Given the description of an element on the screen output the (x, y) to click on. 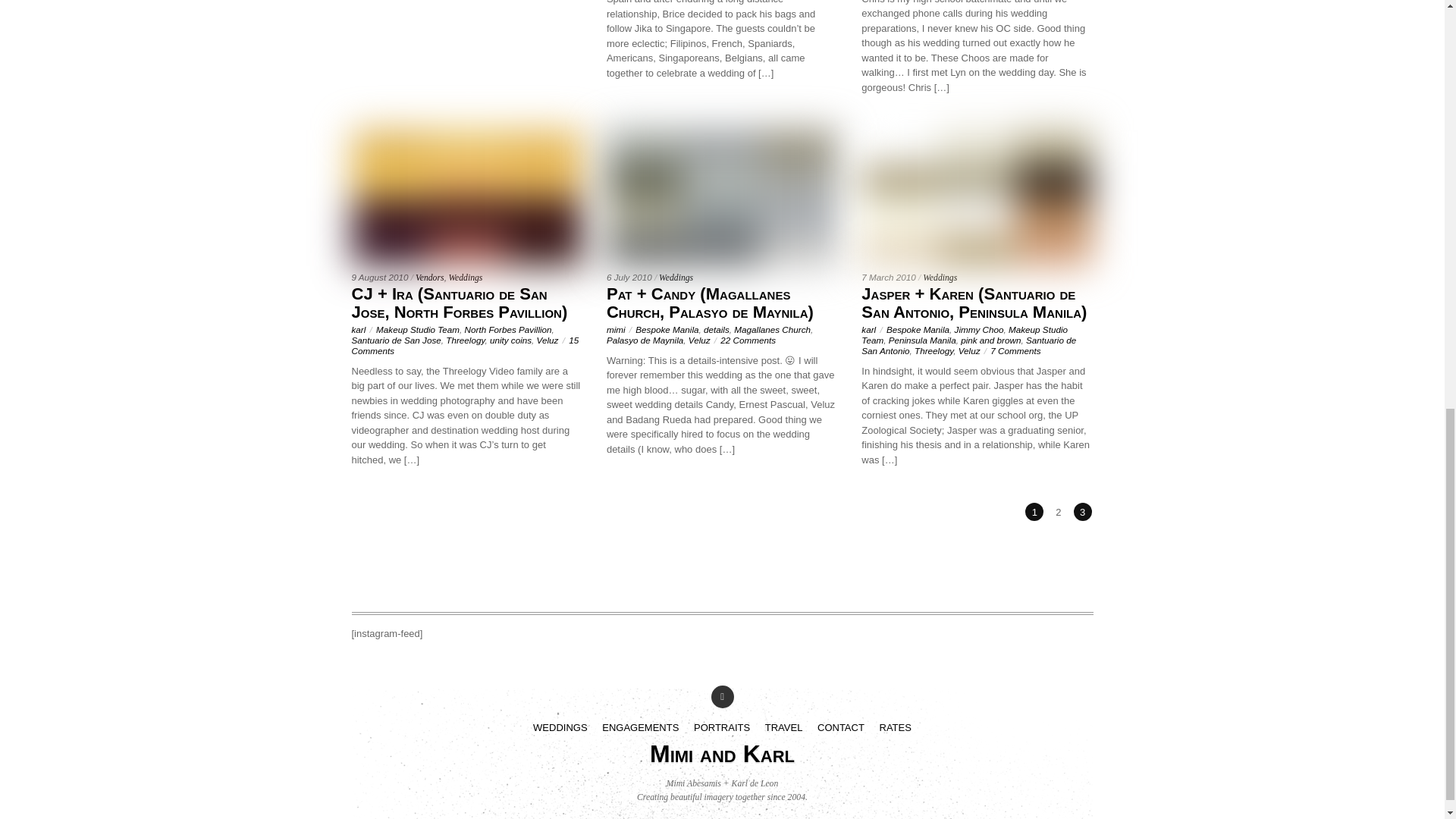
ira-031 (467, 198)
jasper08 (977, 198)
Mimi and Karl (721, 753)
candy003 (722, 198)
